Given the description of an element on the screen output the (x, y) to click on. 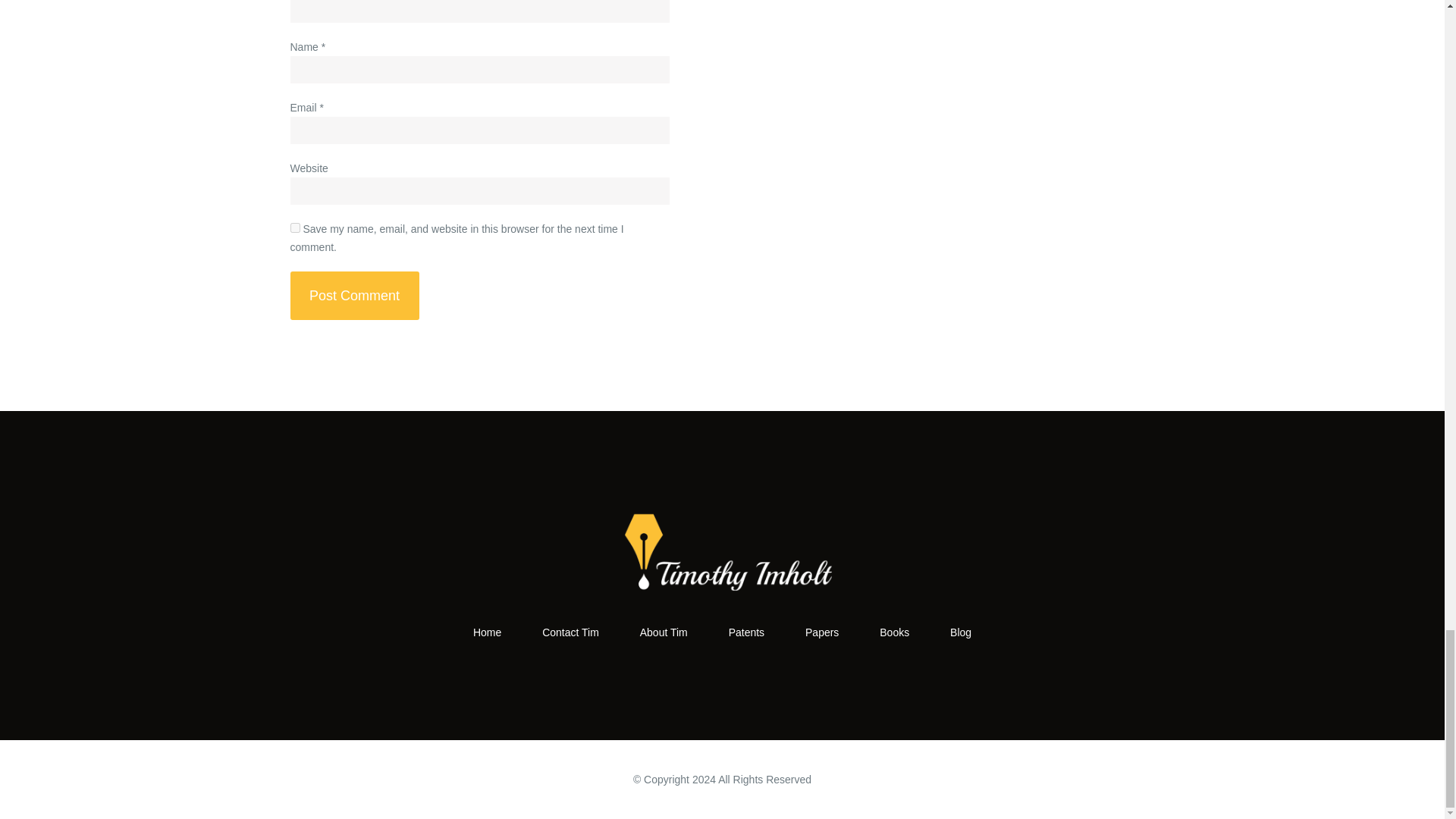
Home (486, 632)
Contact Tim (569, 632)
yes (294, 227)
About Tim (663, 632)
Post Comment (354, 295)
Post Comment (354, 295)
